Given the description of an element on the screen output the (x, y) to click on. 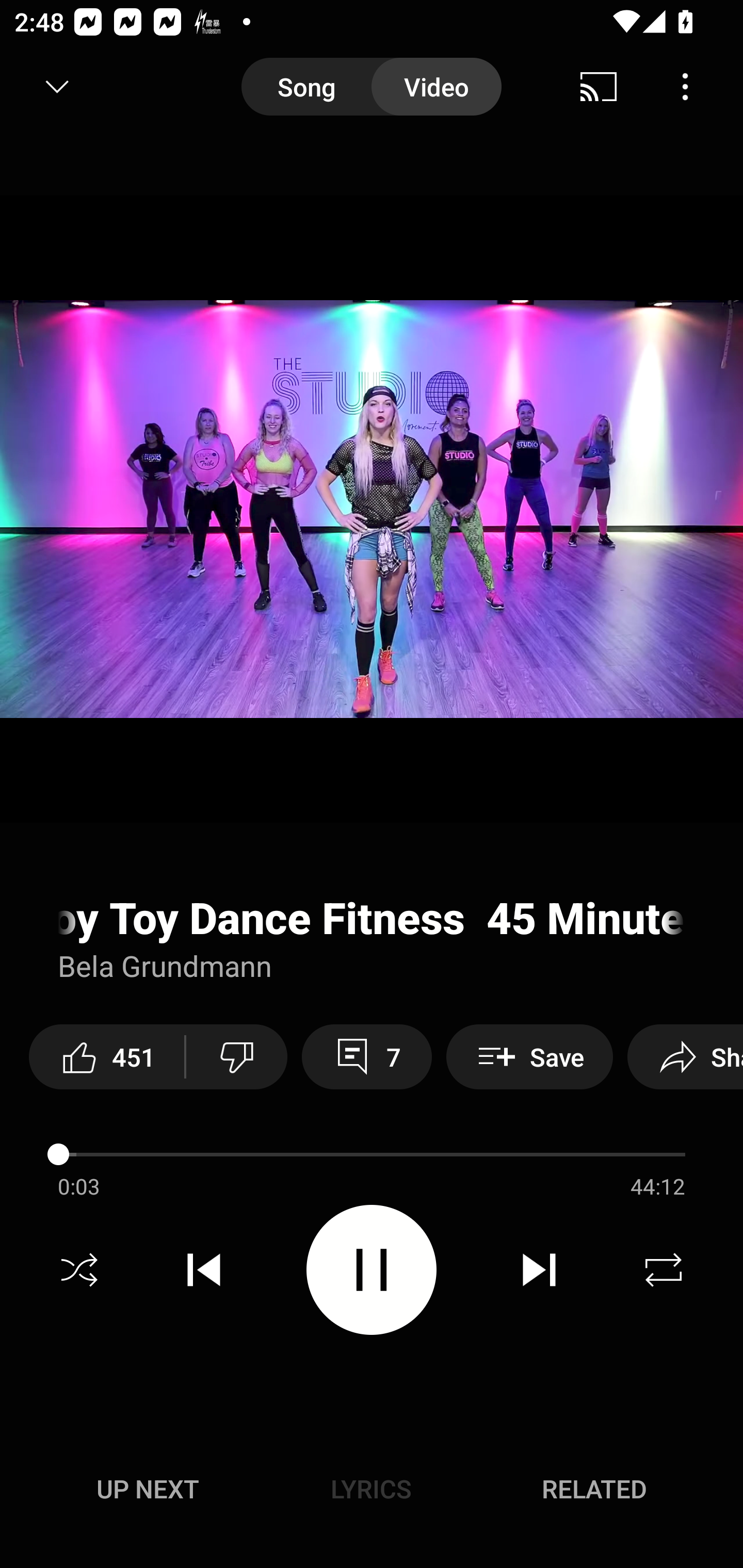
Minimize (57, 86)
Clear search (605, 86)
Voice search (699, 86)
451 like this video along with 451 other people (106, 1056)
Dislike (236, 1056)
7 View 7 comments (366, 1056)
Save Save to playlist (529, 1056)
Share (685, 1056)
Pause video (371, 1269)
Shuffle off (79, 1269)
Previous track (203, 1269)
Next track (538, 1269)
Repeat off (663, 1269)
Up next UP NEXT Lyrics LYRICS Related RELATED (371, 1491)
Lyrics LYRICS (370, 1488)
Related RELATED (594, 1488)
